Given the description of an element on the screen output the (x, y) to click on. 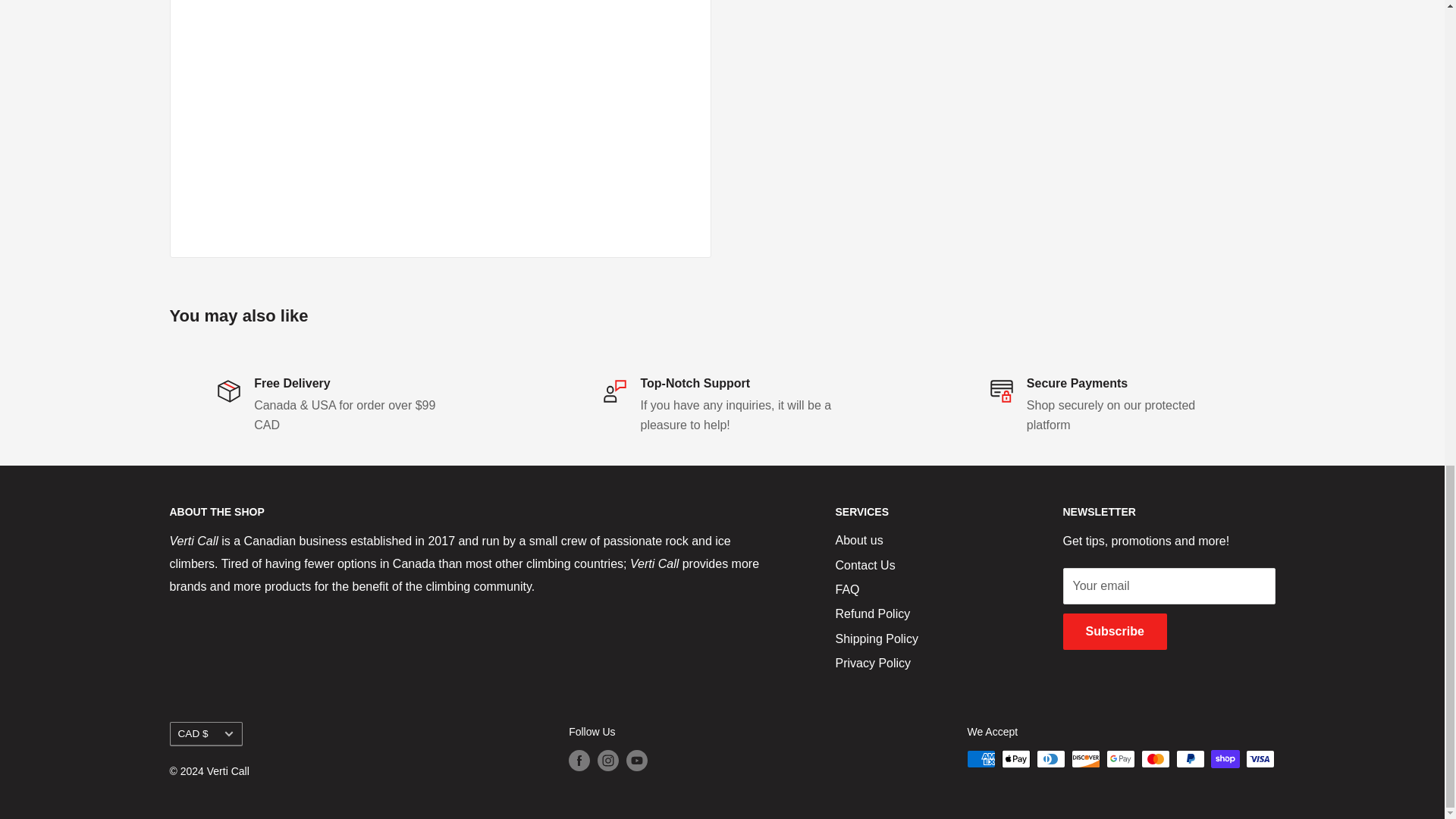
YouTube video player (404, 113)
